Given the description of an element on the screen output the (x, y) to click on. 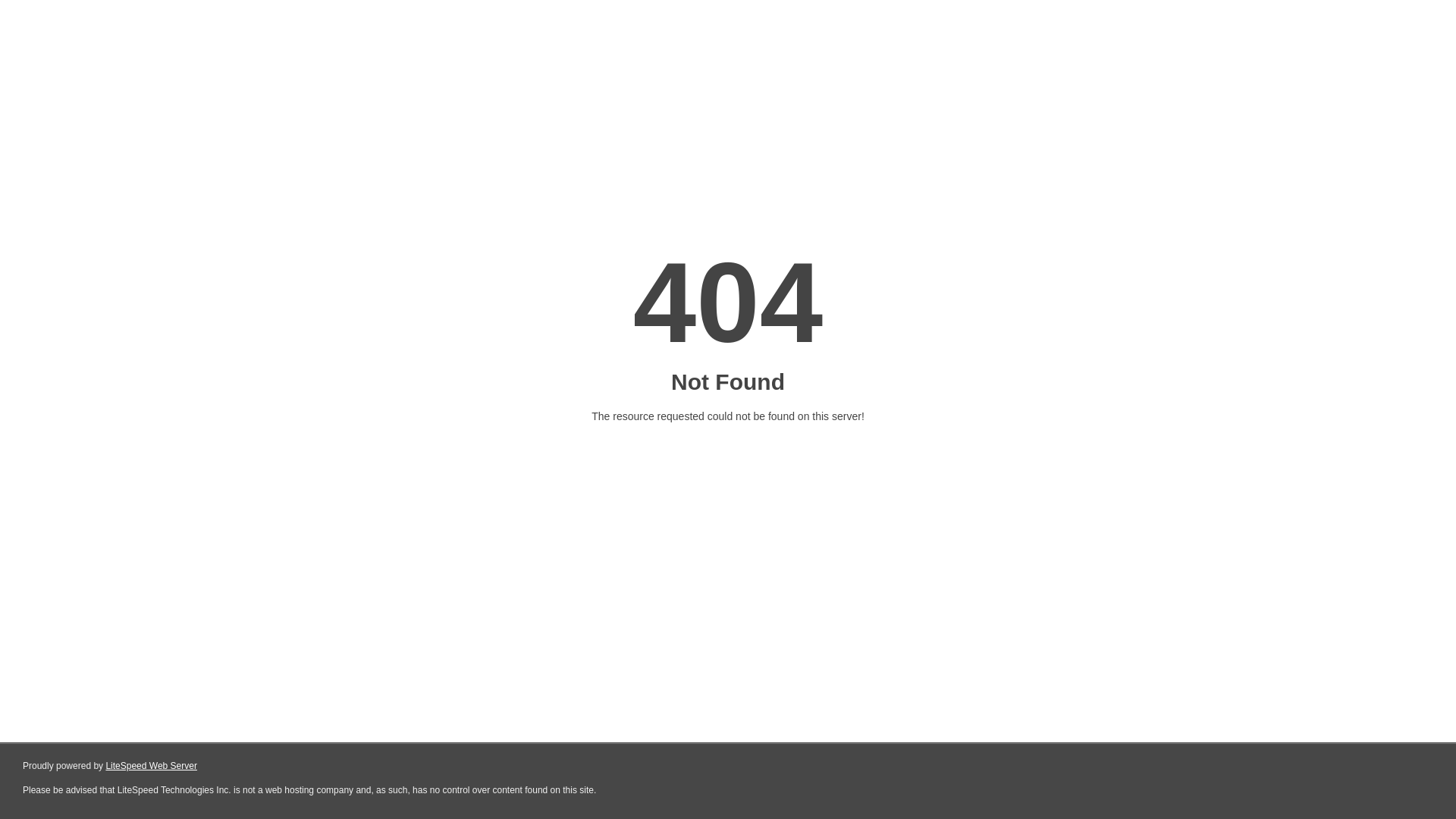
LiteSpeed Web Server (150, 765)
